Given the description of an element on the screen output the (x, y) to click on. 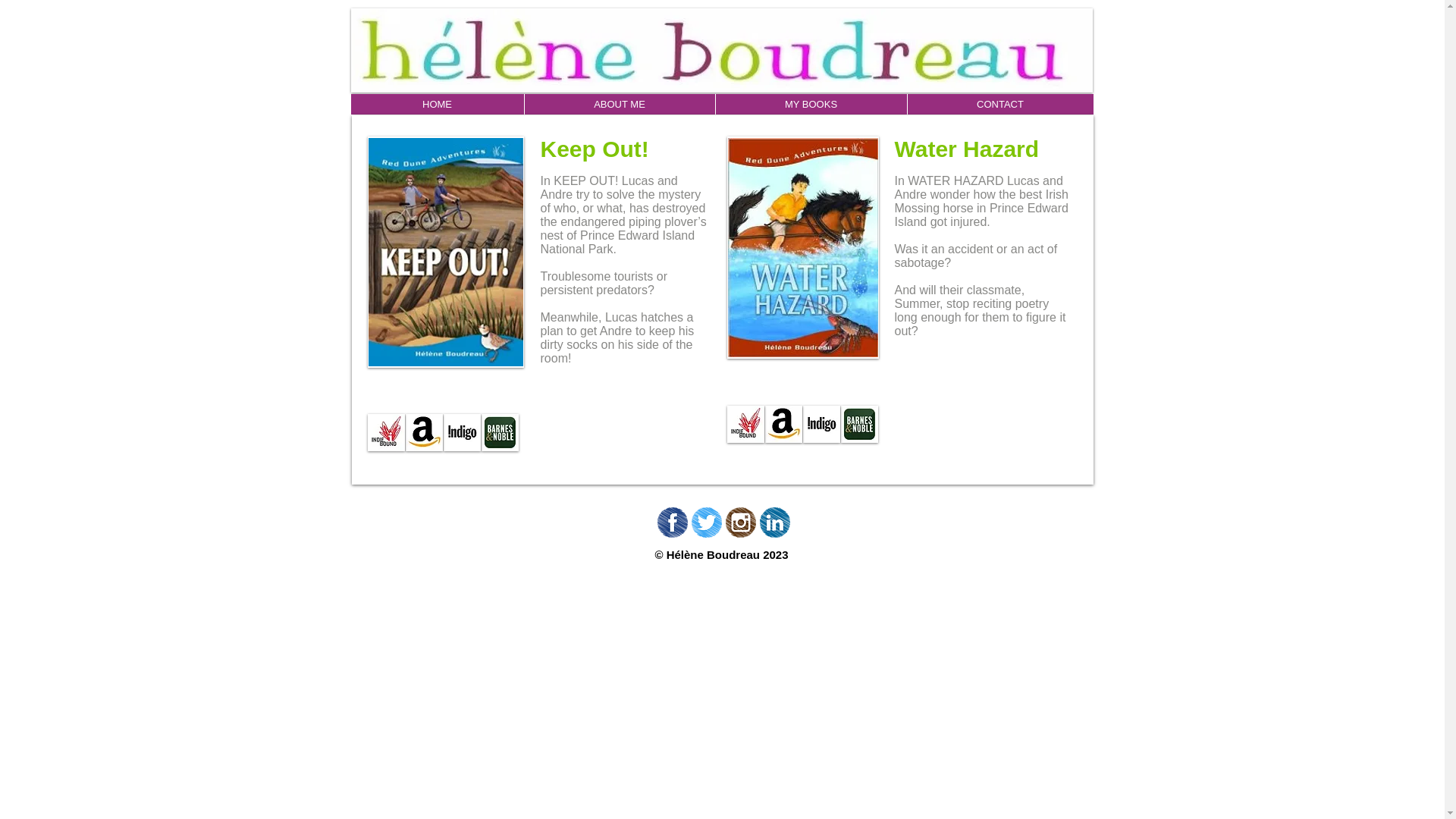
HMB-sitebanner.jpg (721, 50)
Amazon (783, 424)
Indigo (461, 432)
Indigo (821, 424)
Indiebound (385, 432)
Amazon (423, 432)
Indiebound (744, 424)
HOME (436, 104)
